Given the description of an element on the screen output the (x, y) to click on. 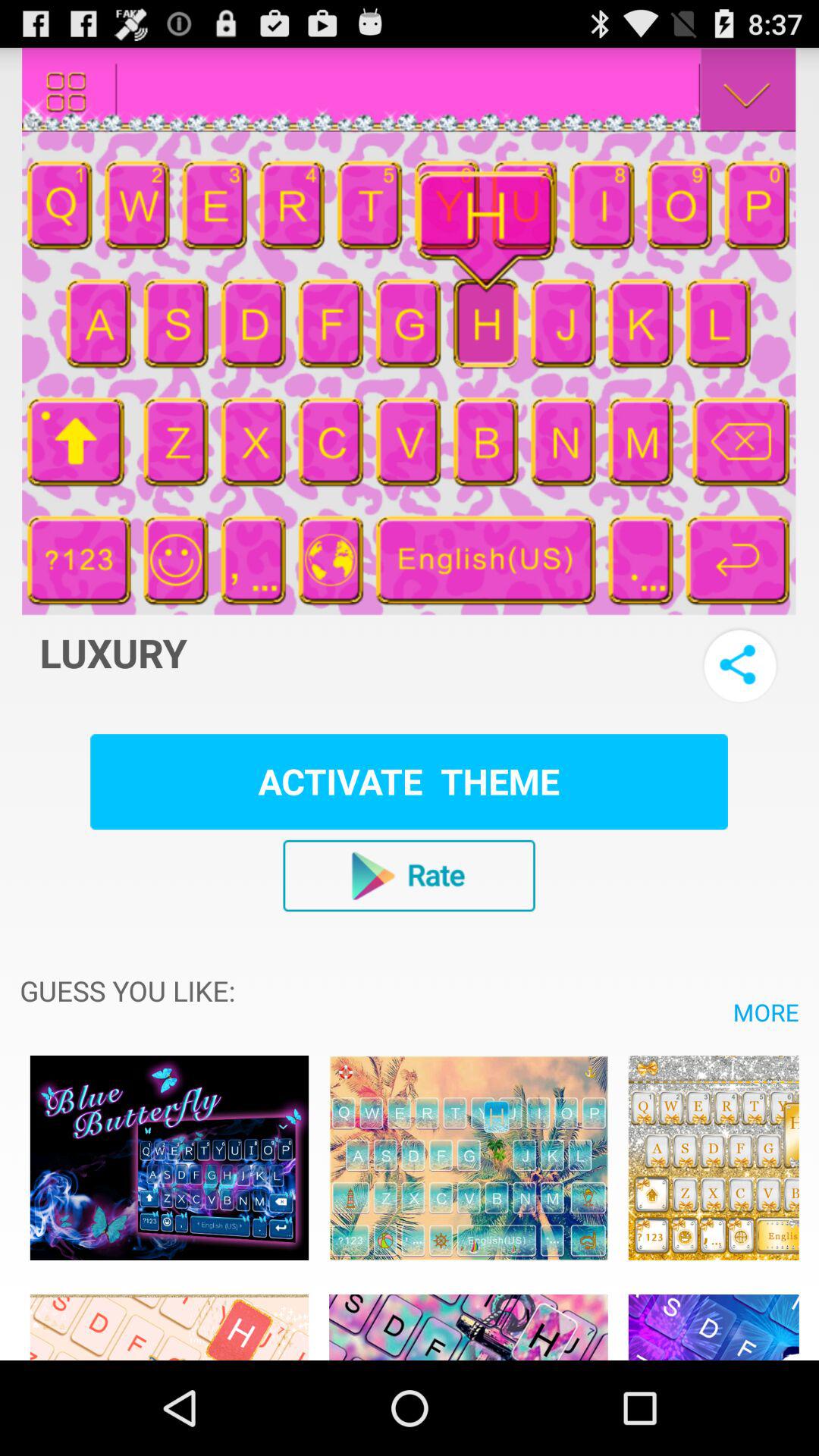
select theme (468, 1157)
